Given the description of an element on the screen output the (x, y) to click on. 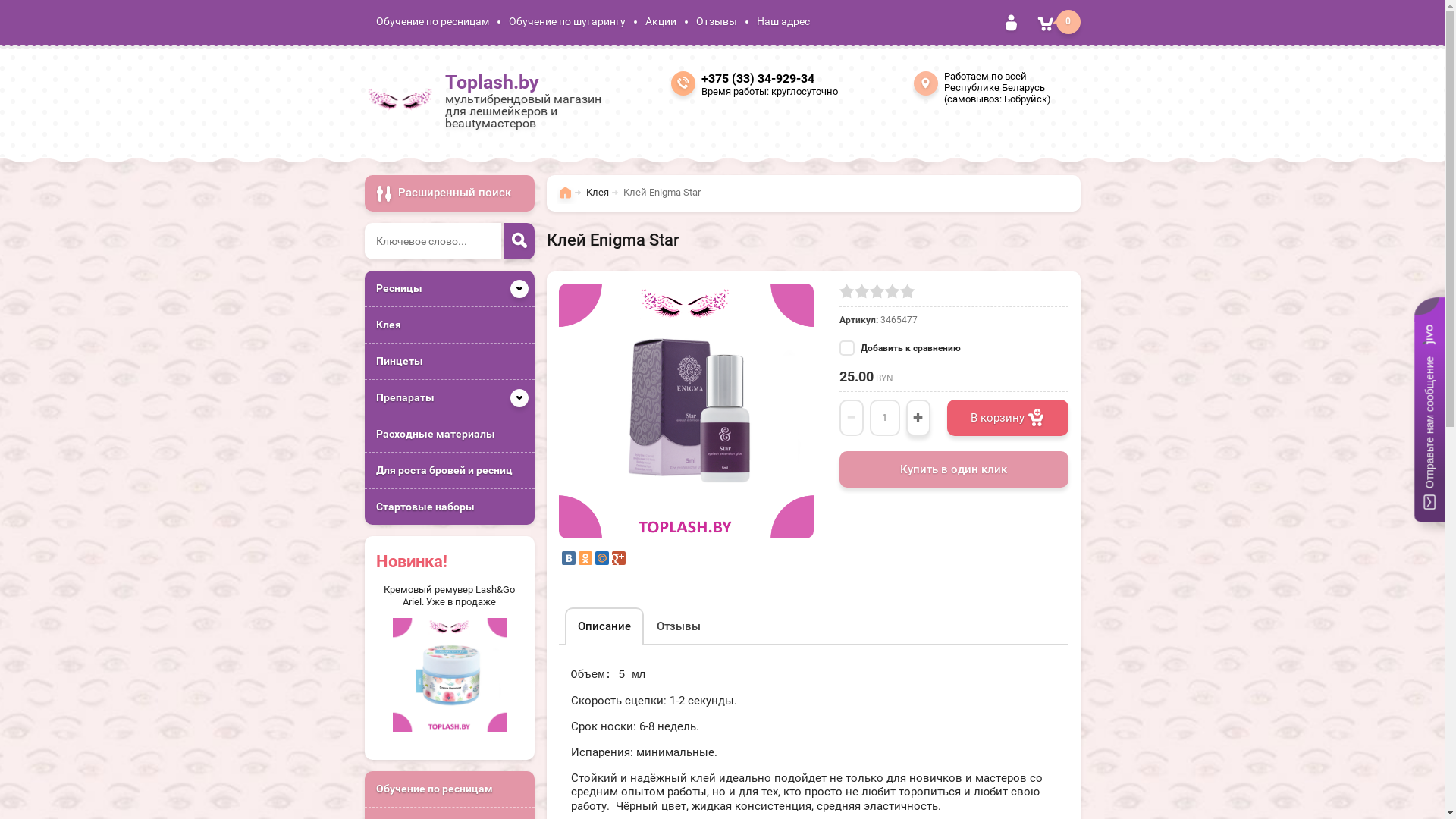
+ Element type: text (917, 416)
+375 (33) 34-929-34 Element type: text (756, 78)
Toplash.by Element type: text (492, 82)
Google Plus Element type: hover (617, 557)
